Given the description of an element on the screen output the (x, y) to click on. 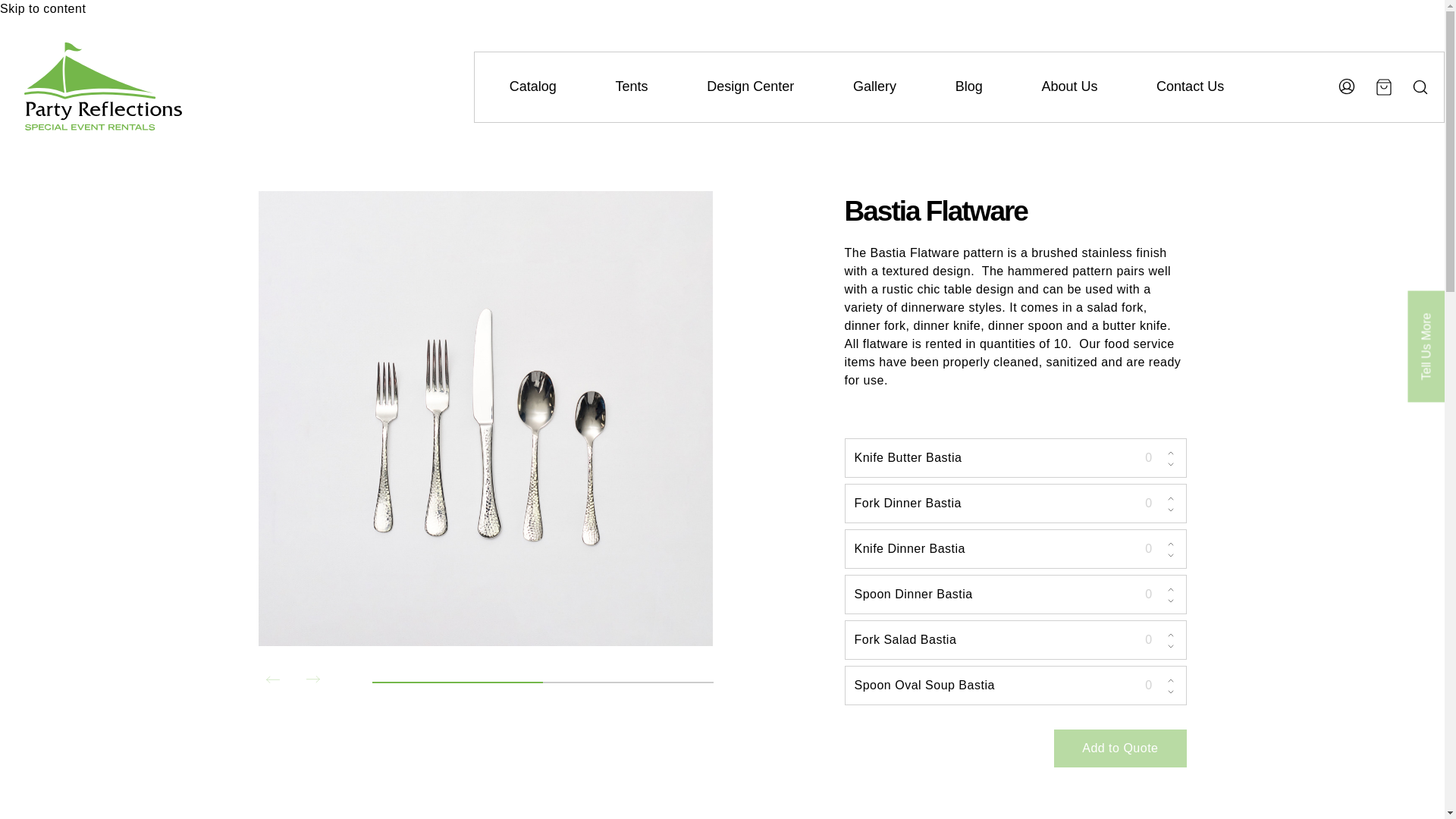
Quantity (1151, 594)
Catalog (531, 87)
Quantity (1151, 685)
Skip to content (42, 8)
Quantity (1151, 503)
Quantity (1151, 548)
Party Reflections, Inc. (99, 139)
Quantity (1151, 457)
Quantity (1151, 639)
